Given the description of an element on the screen output the (x, y) to click on. 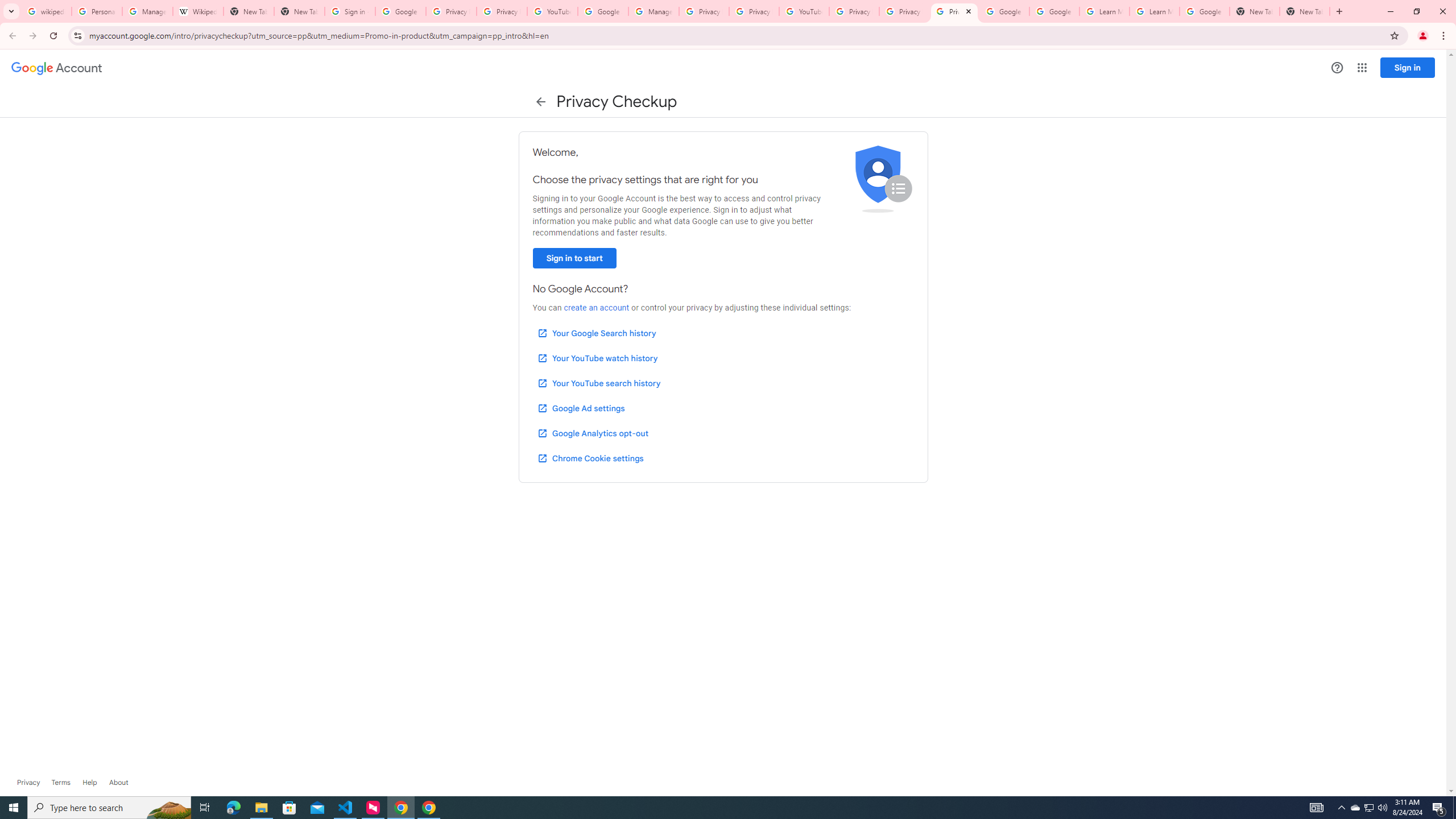
Google Account (1204, 11)
Privacy Checkup (954, 11)
Google Drive: Sign-in (399, 11)
Google Account Help (1004, 11)
Your Google Search history (596, 332)
Personalization & Google Search results - Google Search Help (97, 11)
YouTube (804, 11)
